Given the description of an element on the screen output the (x, y) to click on. 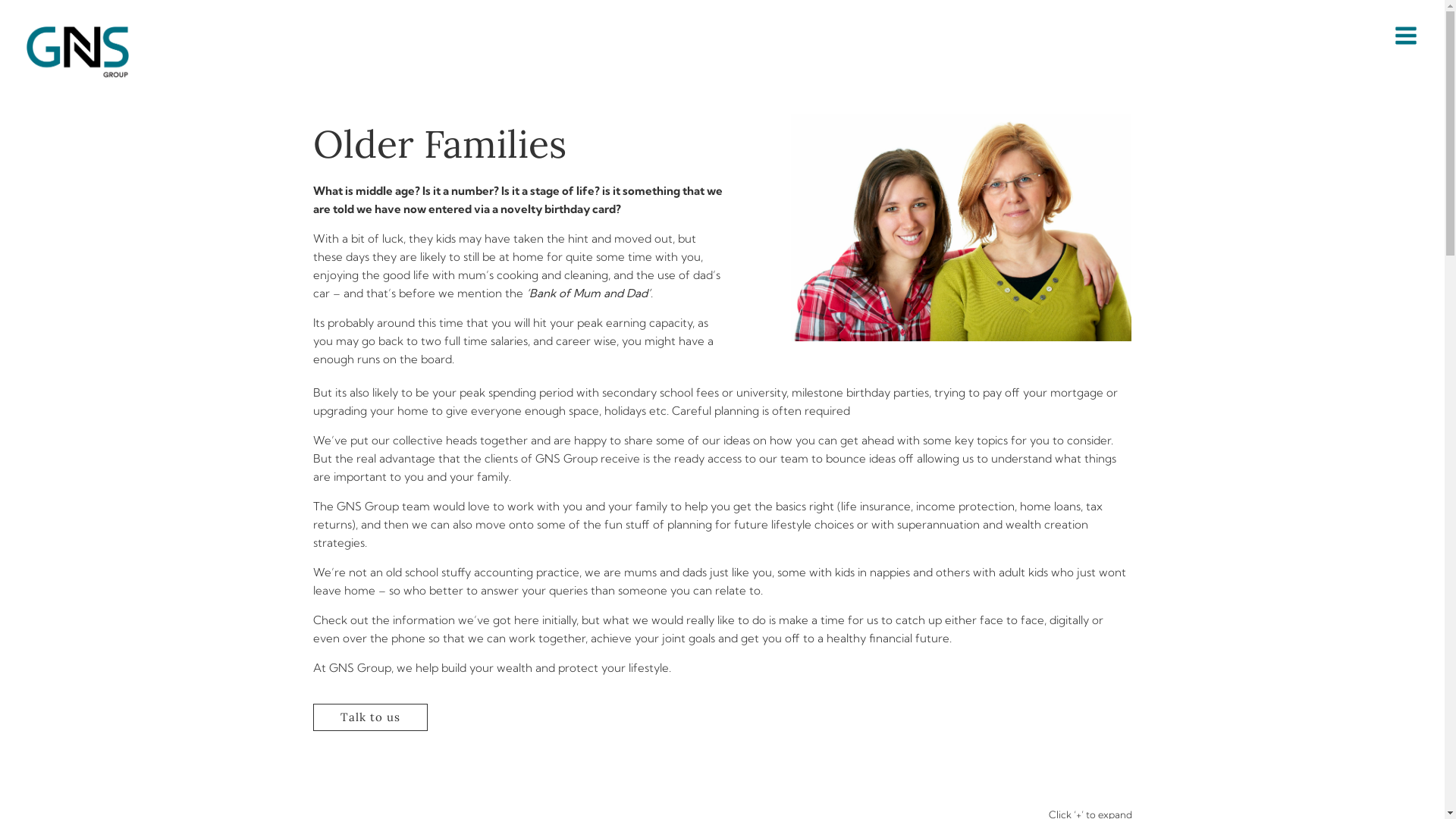
Talk to us Element type: text (369, 717)
